Given the description of an element on the screen output the (x, y) to click on. 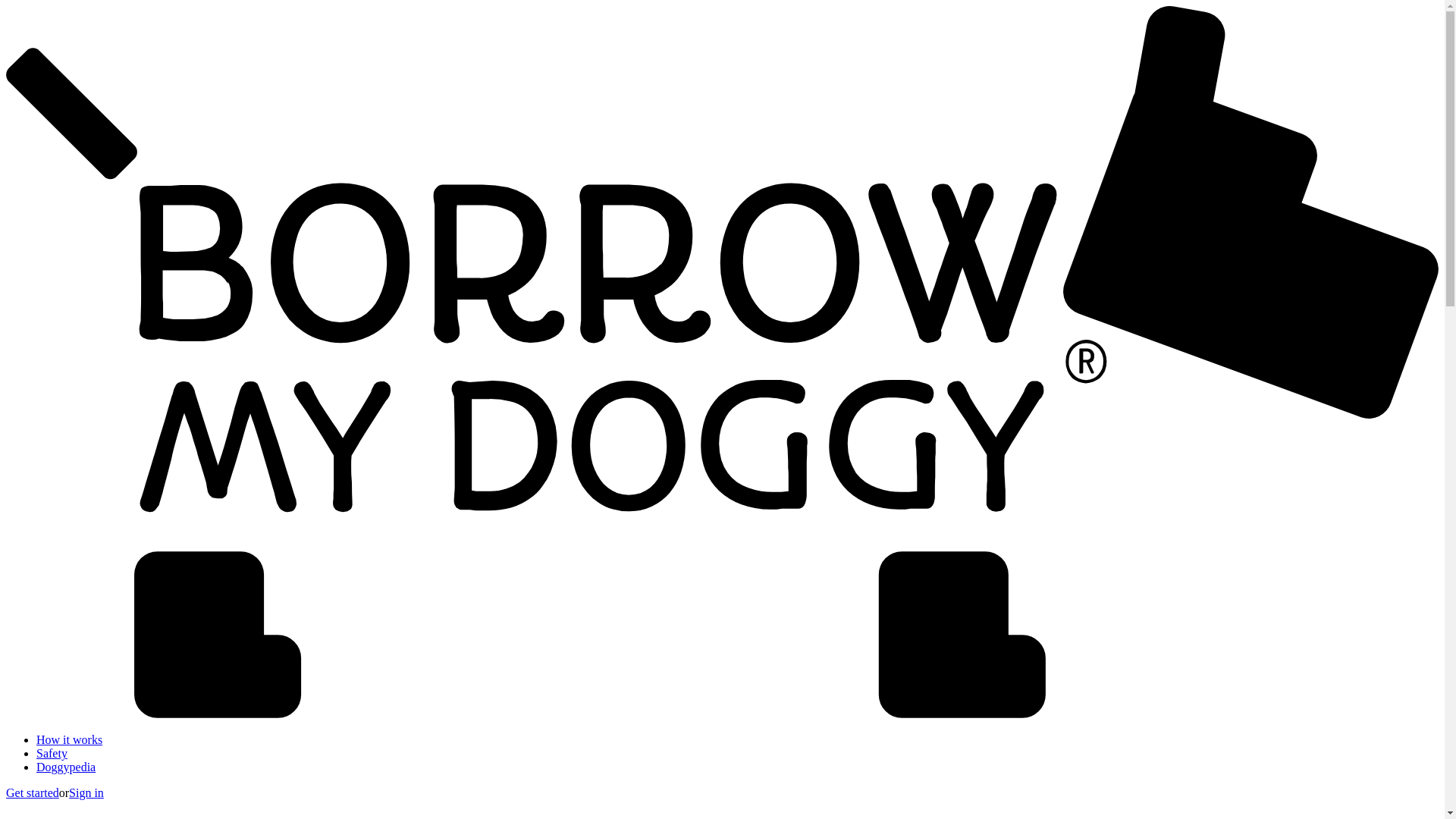
Doggypedia (66, 766)
Sign in (85, 792)
Safety (51, 753)
Get started (32, 792)
How it works (68, 739)
